Given the description of an element on the screen output the (x, y) to click on. 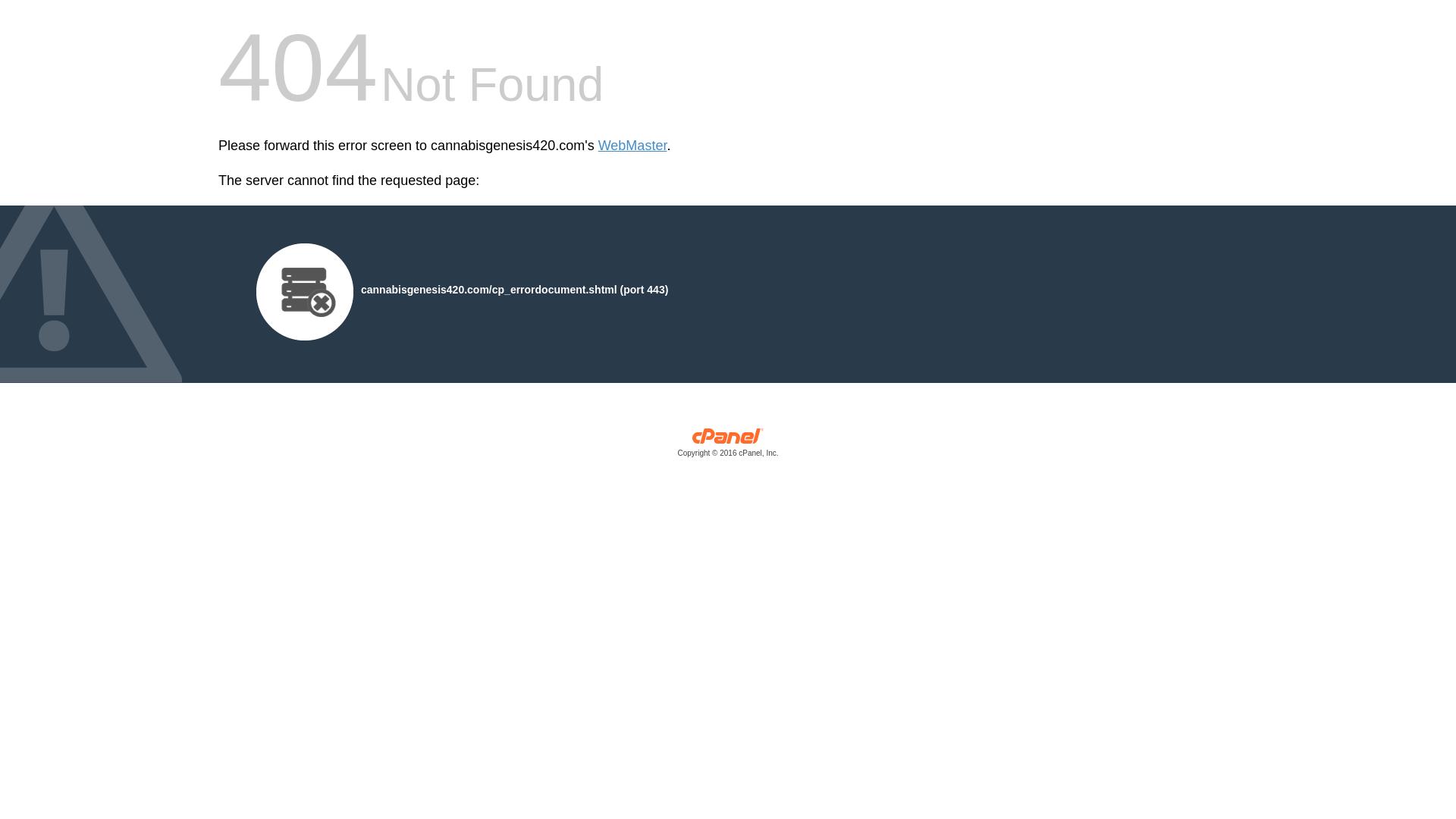
WebMaster (632, 145)
cPanel, Inc. (727, 446)
